Given the description of an element on the screen output the (x, y) to click on. 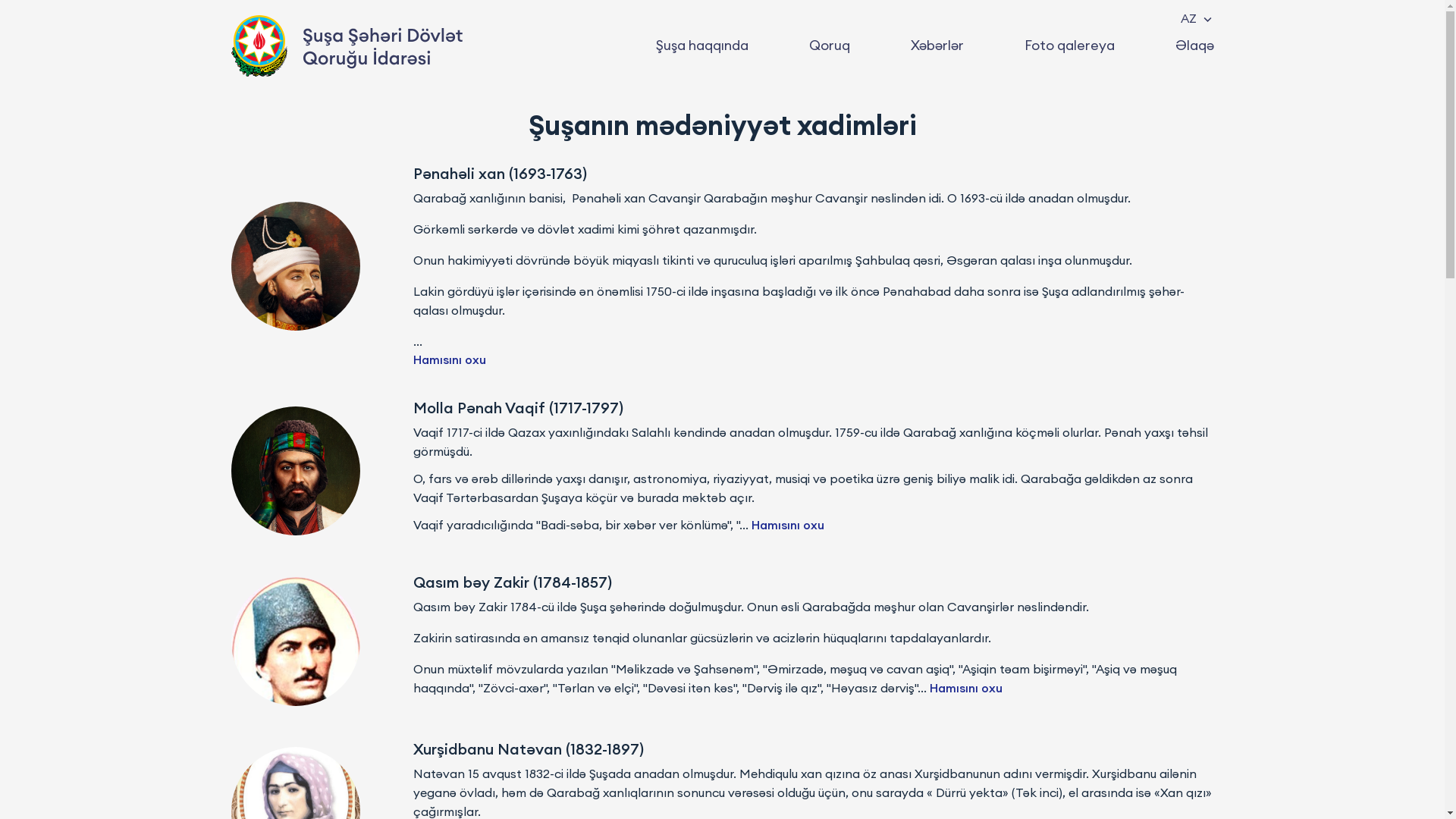
Qoruq Element type: text (828, 45)
Foto qalereya Element type: text (1068, 45)
AZ Element type: text (1195, 18)
